Given the description of an element on the screen output the (x, y) to click on. 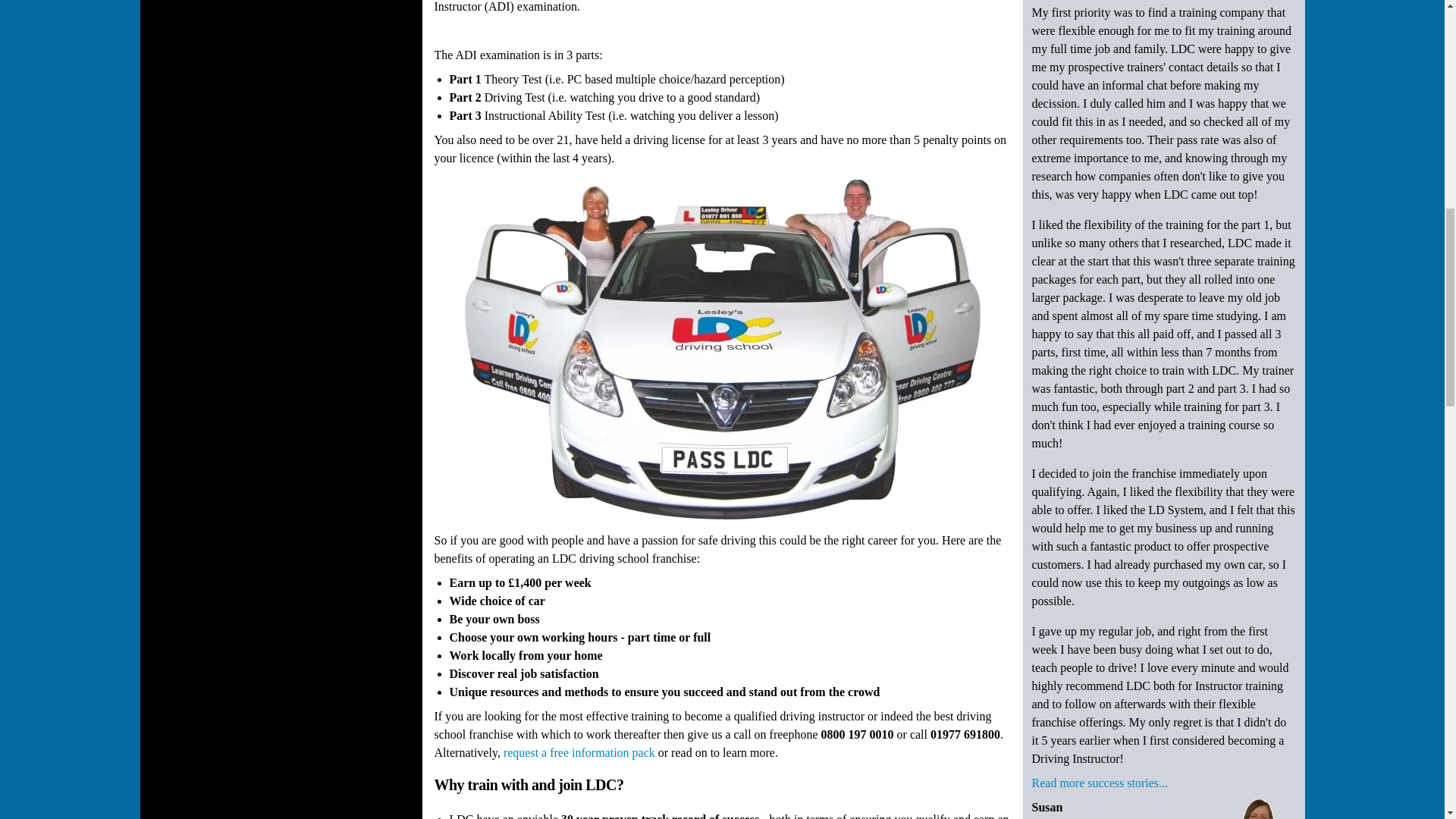
Susan Success Story (1257, 808)
request an information pack (579, 752)
More success stories (1098, 785)
